Given the description of an element on the screen output the (x, y) to click on. 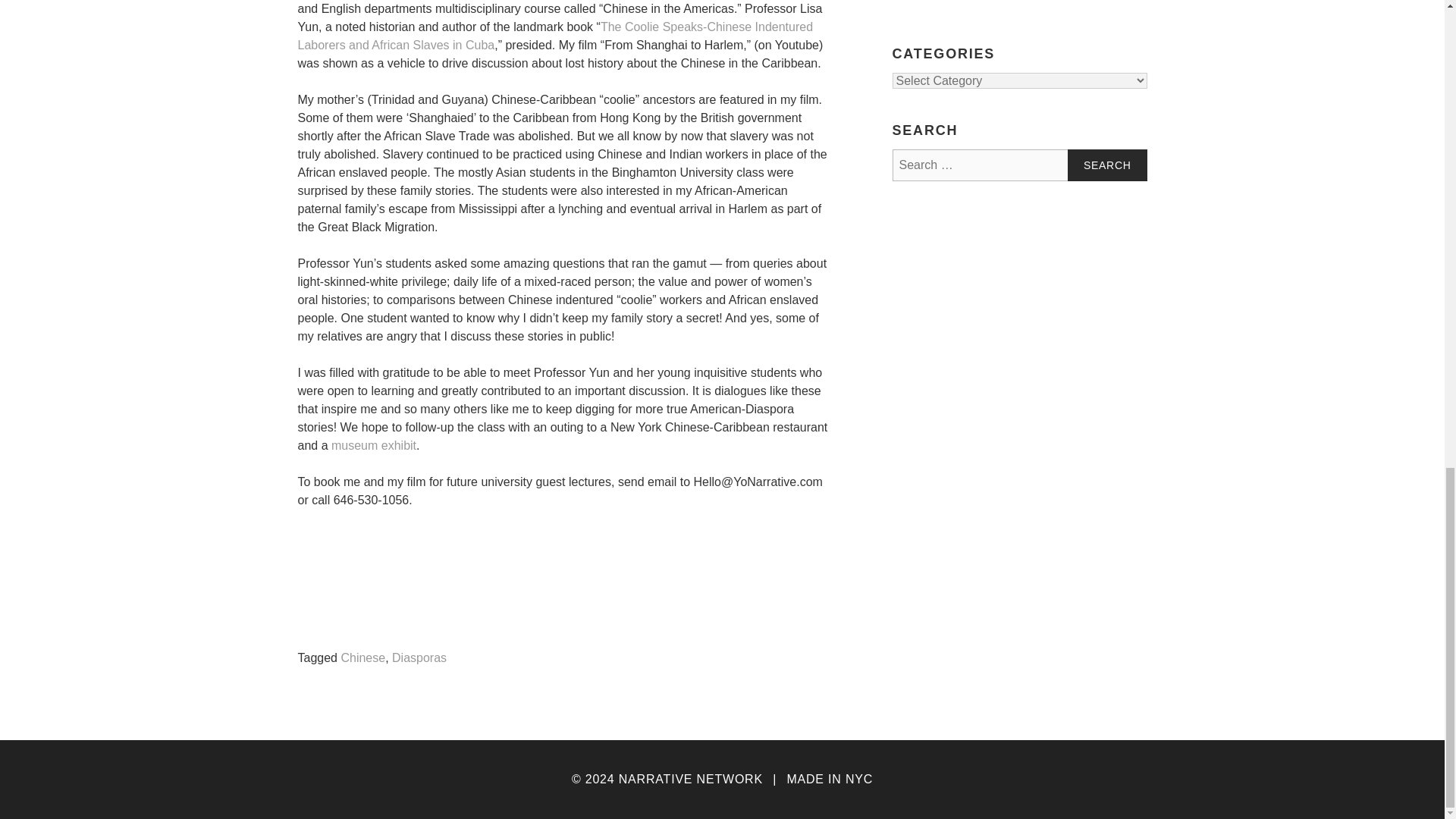
Diasporas (418, 658)
museum exhibit (373, 445)
Chinese (362, 658)
Search (1107, 164)
landmark book about Chinese Caribbeans by Lisa Yun (554, 36)
Search (1107, 164)
Search (1107, 164)
